Given the description of an element on the screen output the (x, y) to click on. 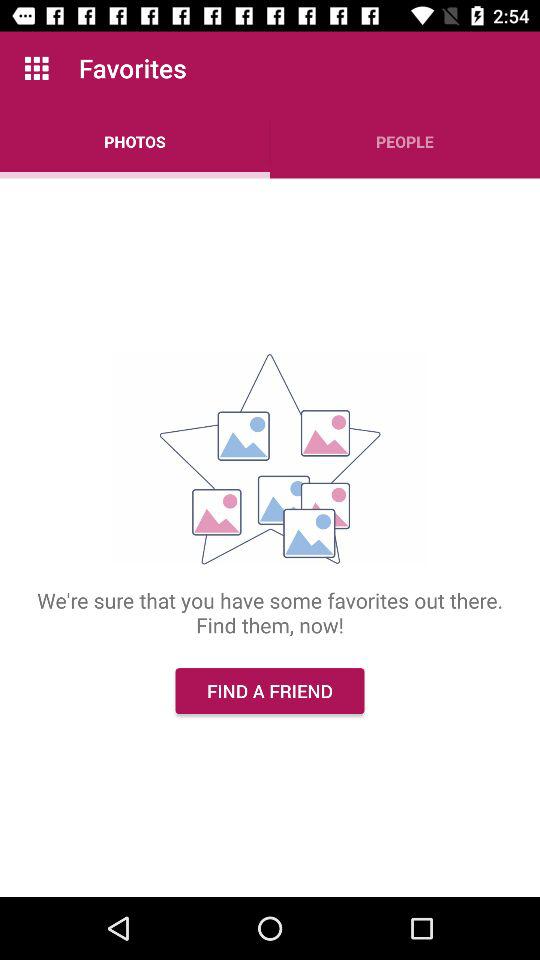
tap item next to the people app (135, 141)
